Given the description of an element on the screen output the (x, y) to click on. 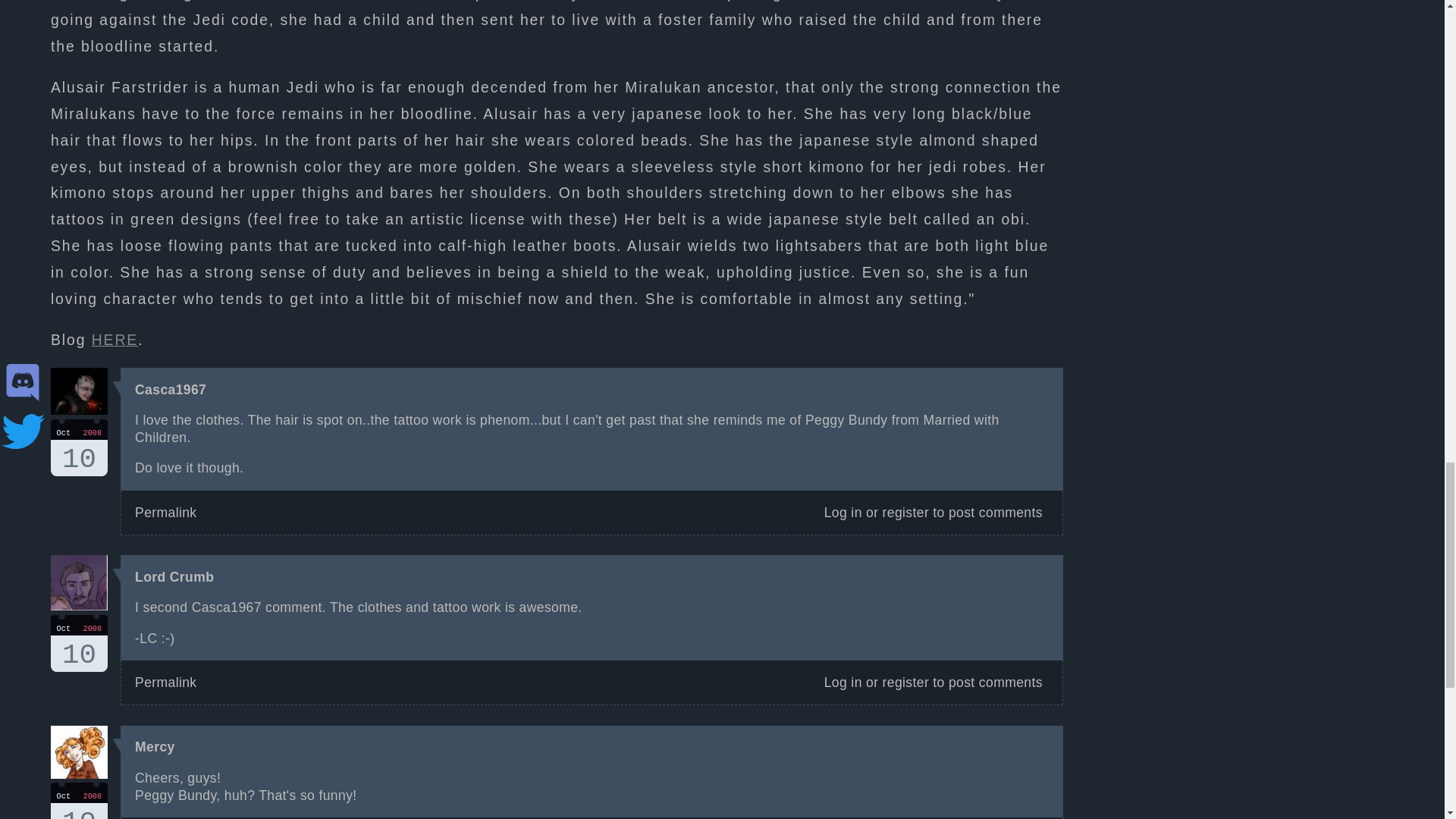
Lord Crumb (174, 576)
View user profile. (154, 746)
View user profile. (174, 576)
Permalink (165, 512)
register (905, 682)
register (905, 512)
HERE (114, 339)
Log in (842, 512)
Mercy (78, 447)
View user profile. (154, 746)
Casca1967 (78, 800)
Log in (170, 389)
